Given the description of an element on the screen output the (x, y) to click on. 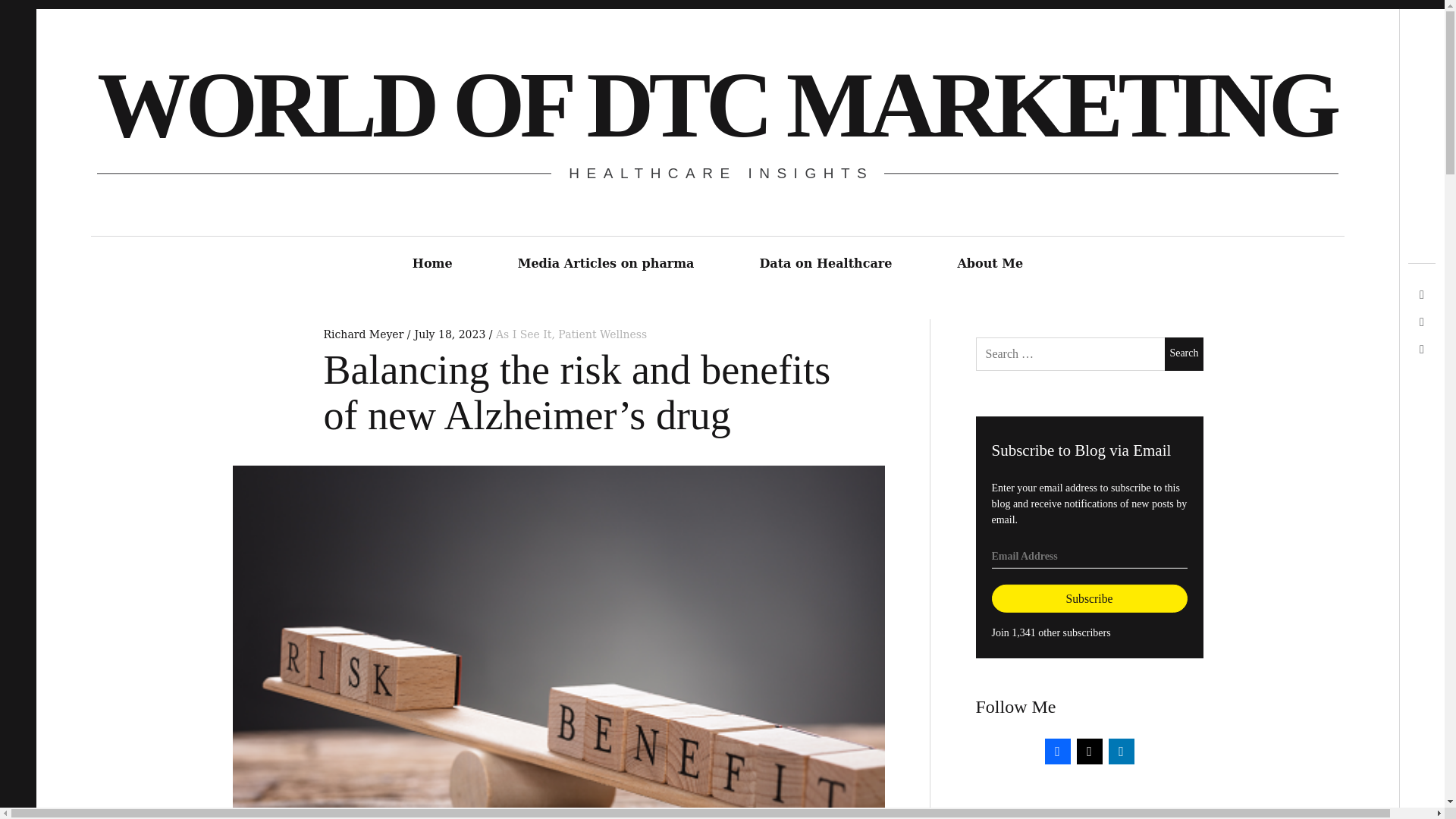
July 18, 2023 (450, 334)
Facebook (1057, 749)
Data on Healthcare (825, 263)
Search (1183, 354)
Search (1183, 354)
As I See It (523, 334)
Home (432, 263)
WORLD OF DTC MARKETING (716, 105)
Subscribe (1089, 598)
X (1089, 749)
Media Articles on pharma (605, 263)
Richard Meyer (364, 334)
Search (1183, 354)
About Me (989, 263)
Patient Wellness (601, 334)
